Given the description of an element on the screen output the (x, y) to click on. 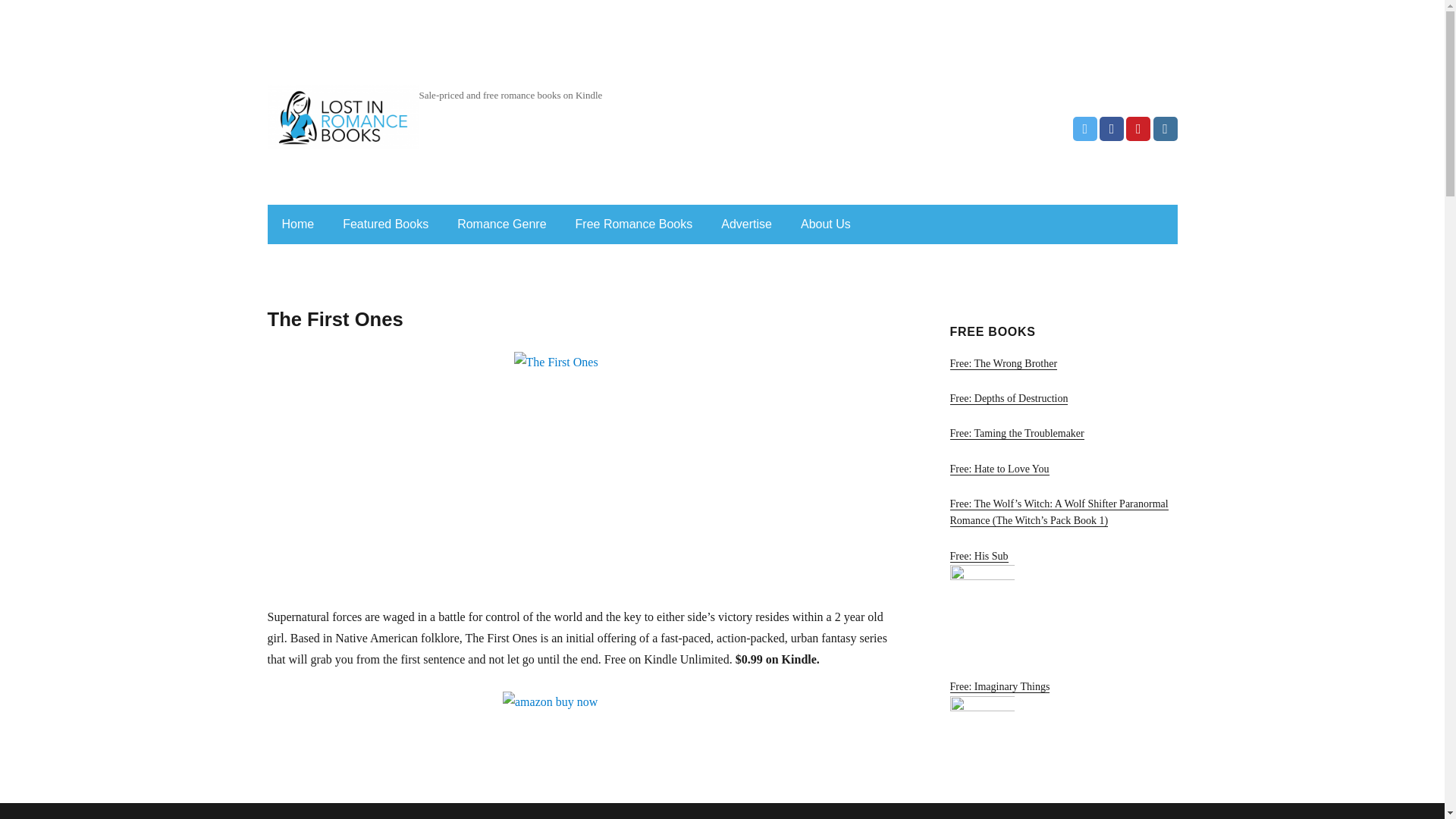
Free: Taming the Troublemaker (1062, 435)
Featured Books (385, 224)
About Us (825, 224)
Free: His Sub (1062, 605)
Advertise (746, 224)
Romance Genre (501, 224)
Twitter (1085, 128)
Facebook (1111, 128)
Home (297, 224)
Instagram (1164, 128)
